Given the description of an element on the screen output the (x, y) to click on. 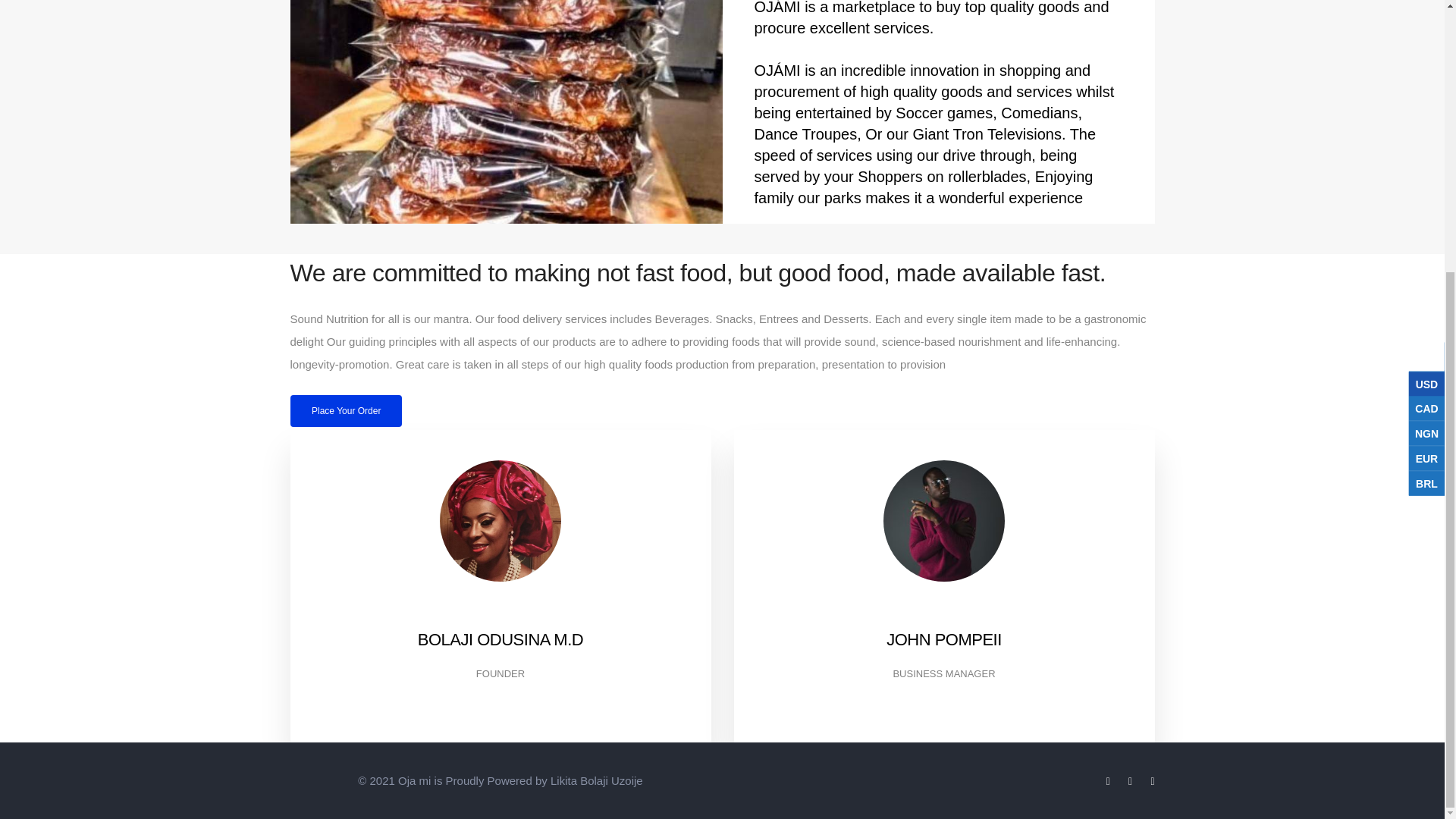
Place Your Order (345, 410)
BOLAJI ODUSINA M.D (500, 639)
